Given the description of an element on the screen output the (x, y) to click on. 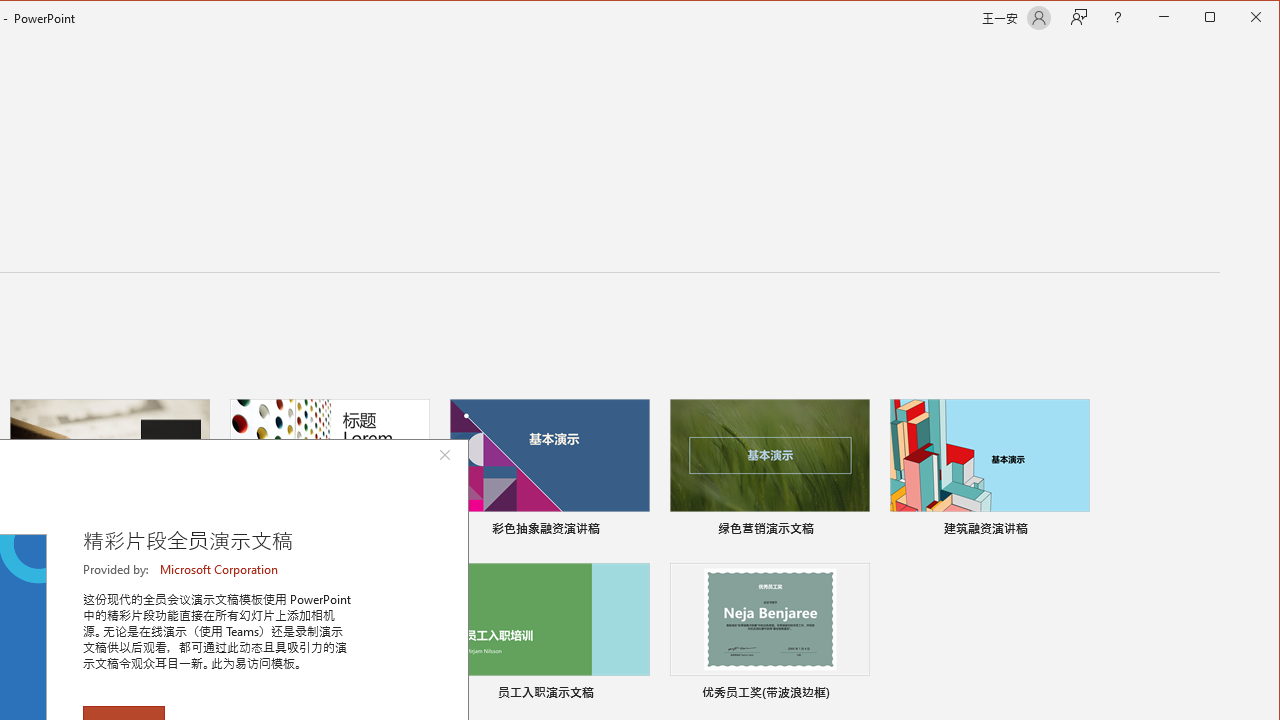
Pin to list (856, 695)
Maximize (1238, 18)
Microsoft Corporation (220, 569)
